Given the description of an element on the screen output the (x, y) to click on. 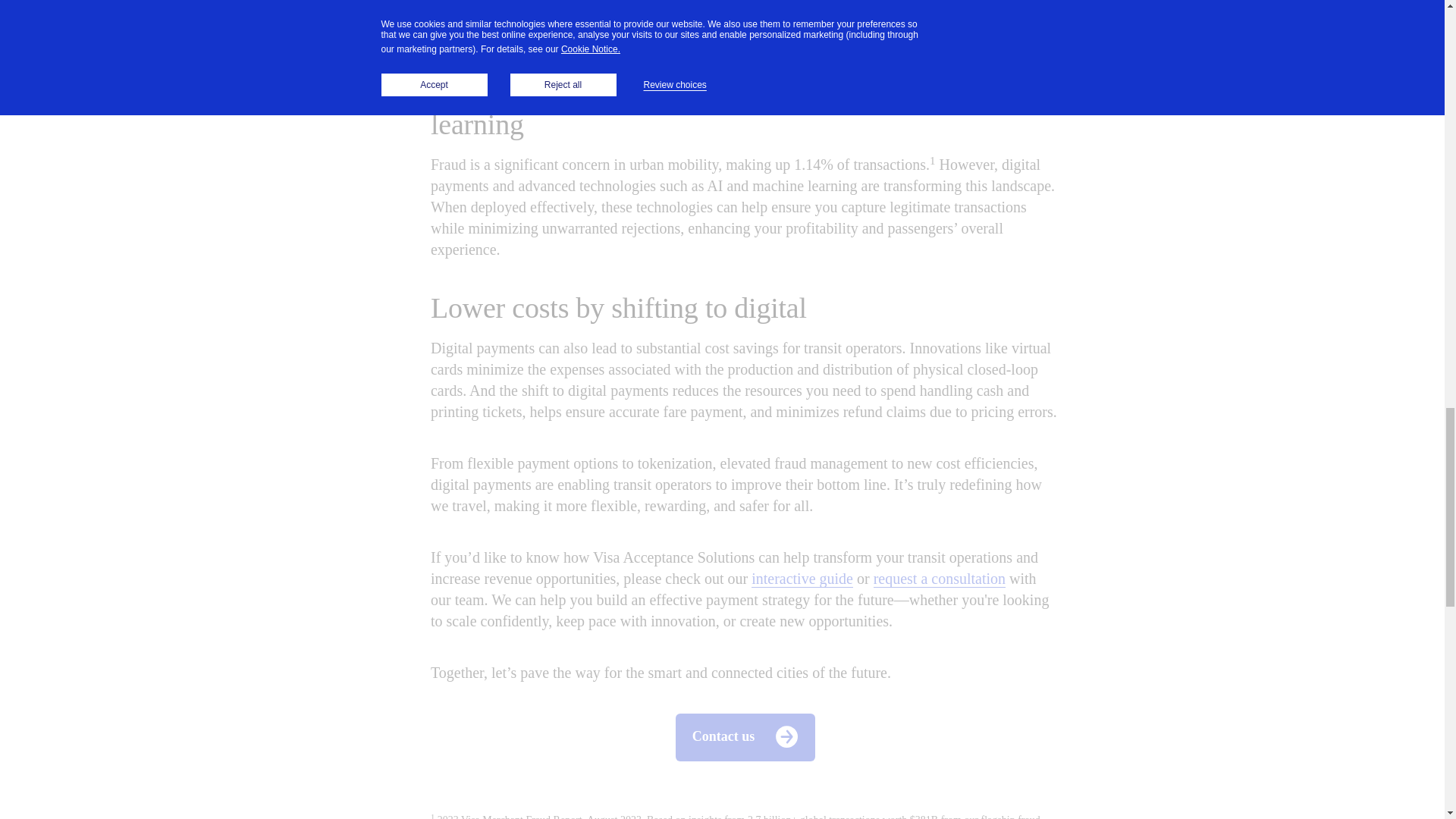
request a consultation (939, 579)
Payment solutions for mass transit (802, 579)
Contact us (939, 579)
interactive guide (802, 579)
Contact us (745, 735)
